Given the description of an element on the screen output the (x, y) to click on. 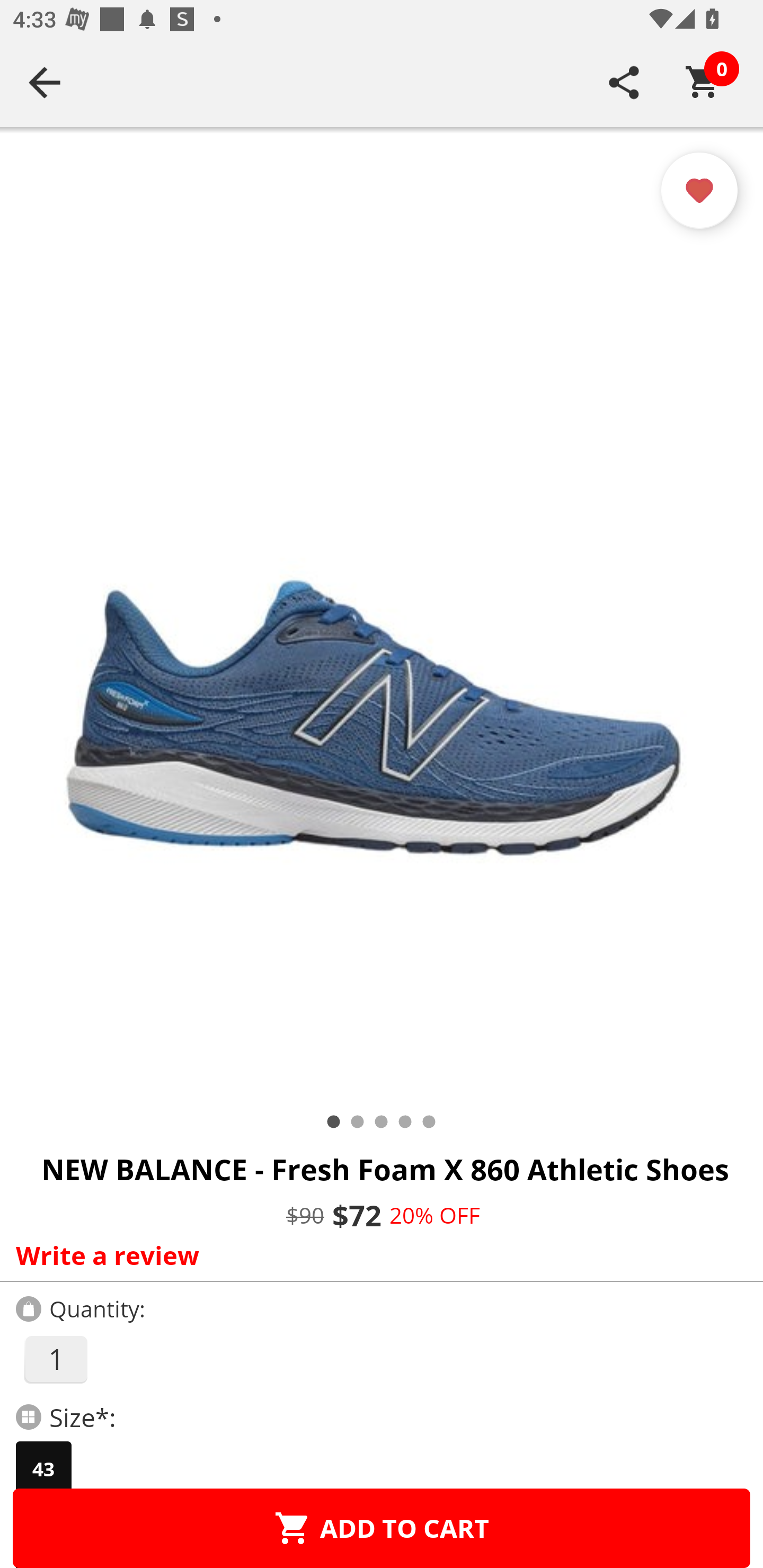
Navigate up (44, 82)
SHARE (623, 82)
Cart (703, 81)
Write a review (377, 1255)
1 (55, 1358)
43 (43, 1468)
ADD TO CART (381, 1528)
